Given the description of an element on the screen output the (x, y) to click on. 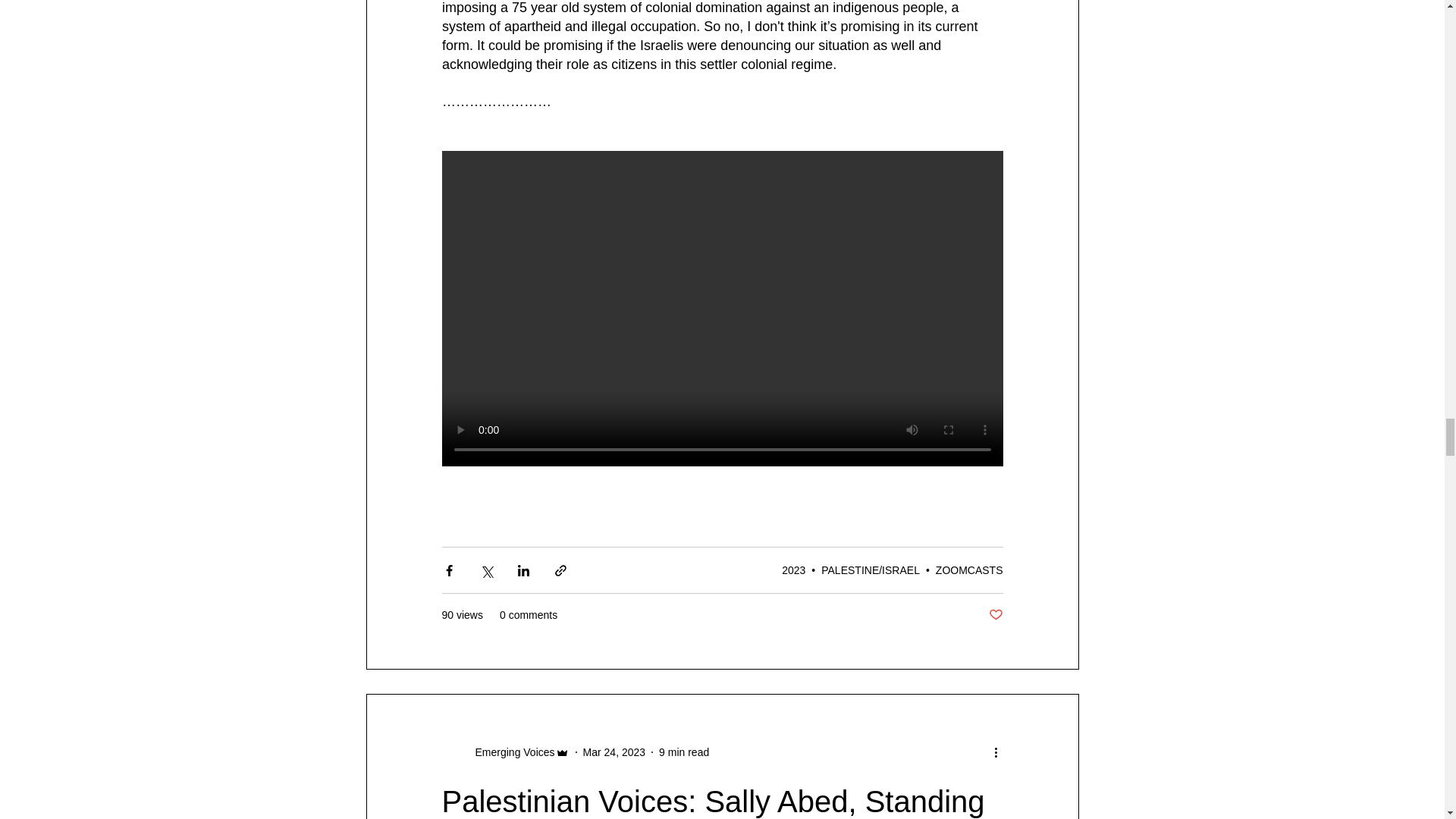
Mar 24, 2023 (614, 752)
ZOOMCASTS (969, 570)
Emerging Voices (505, 752)
Emerging Voices (509, 752)
Post not marked as liked (995, 615)
Palestinian Voices: Sally Abed, Standing Together (712, 801)
2023 (793, 570)
9 min read (684, 752)
0 comments (528, 615)
